Given the description of an element on the screen output the (x, y) to click on. 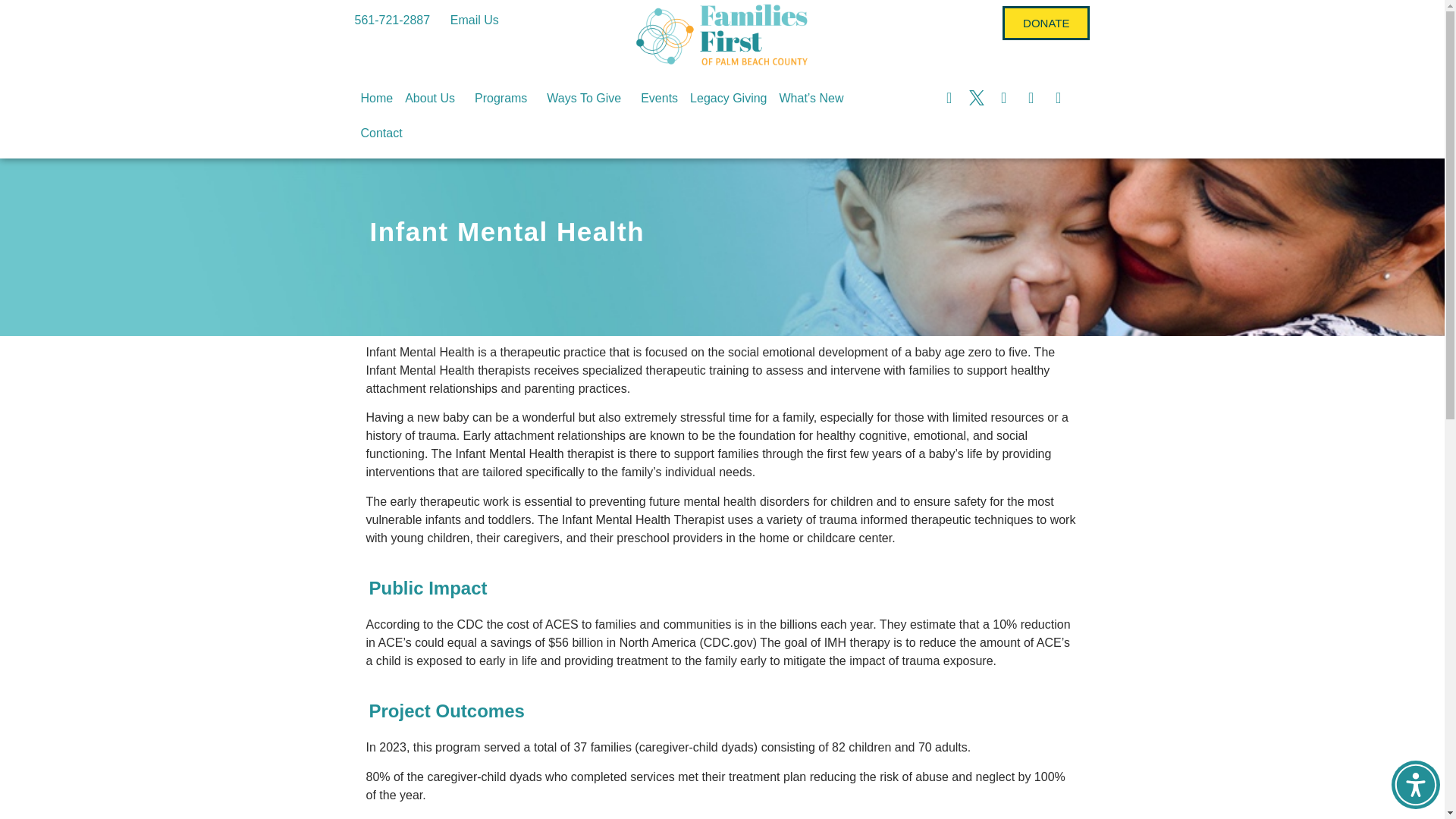
Programs (504, 98)
Legacy Giving (728, 98)
Contact (382, 133)
Events (659, 98)
Ways To Give (587, 98)
Email Us (474, 19)
Accessibility Menu (1415, 784)
P  (721, 642)
Home (376, 98)
